Given the description of an element on the screen output the (x, y) to click on. 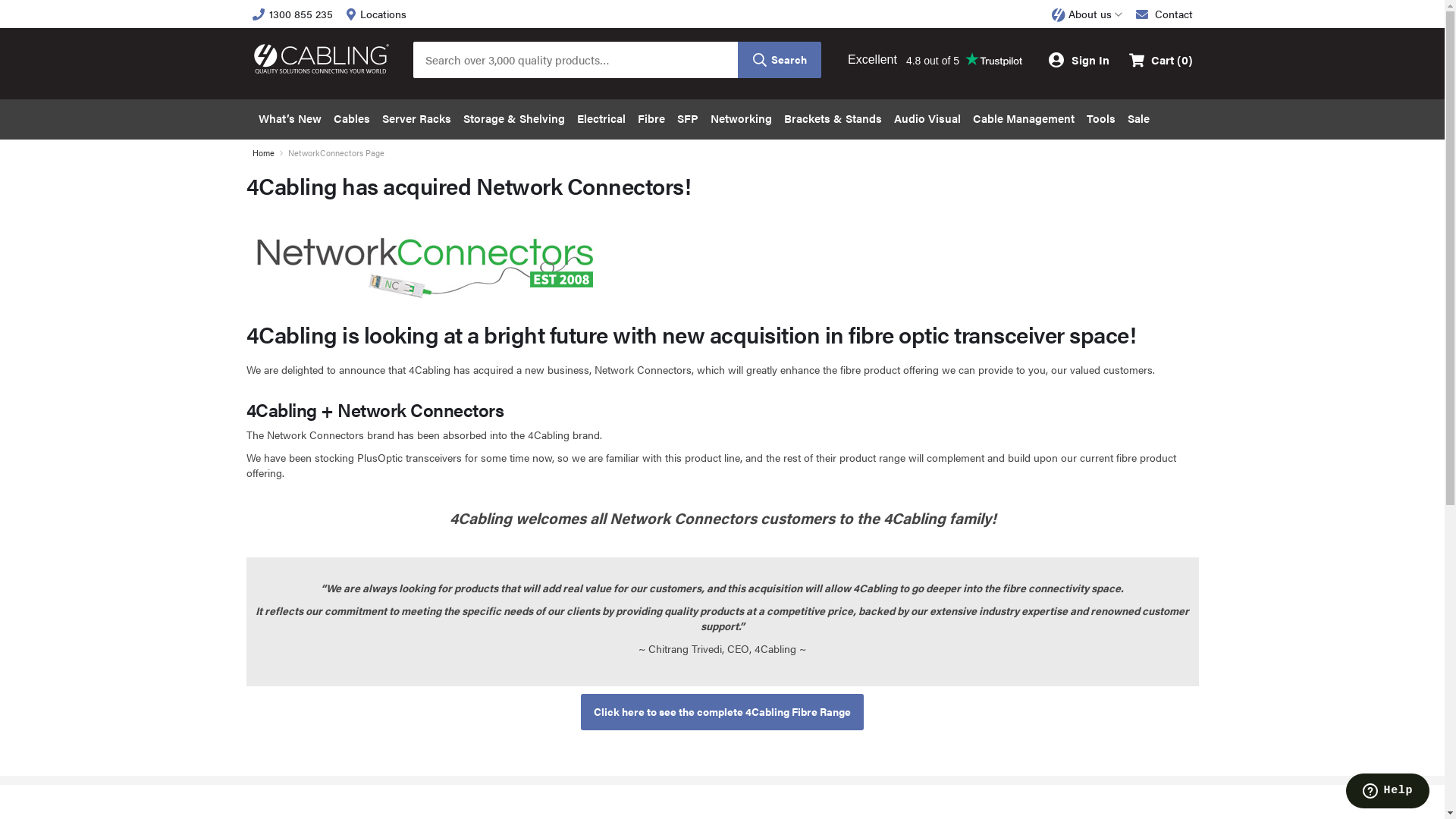
Customer reviews powered by Trustpilot Element type: hover (934, 59)
Audio Visual Element type: text (926, 119)
About us Element type: text (1086, 14)
1300 855 235 Element type: text (291, 14)
Locations Element type: text (375, 14)
Electrical Element type: text (600, 119)
Home Element type: text (262, 152)
Skip to Content Element type: text (251, 5)
Cable Management Element type: text (1022, 119)
Fibre Element type: text (650, 119)
Search Element type: text (778, 59)
SFP Element type: text (686, 119)
Server Racks Element type: text (416, 119)
Storage & Shelving Element type: text (513, 119)
Contact Element type: text (1163, 13)
Opens a widget where you can chat to one of our agents Element type: hover (1387, 792)
Tools Element type: text (1099, 119)
Cables Element type: text (351, 119)
Networking Element type: text (740, 119)
Sign In Element type: text (1078, 59)
Sale Element type: text (1137, 119)
My Cart
Cart (
0
) Element type: text (1160, 59)
Brackets & Stands Element type: text (833, 119)
Click here to see the complete 4Cabling Fibre Range Element type: text (721, 711)
